Given the description of an element on the screen output the (x, y) to click on. 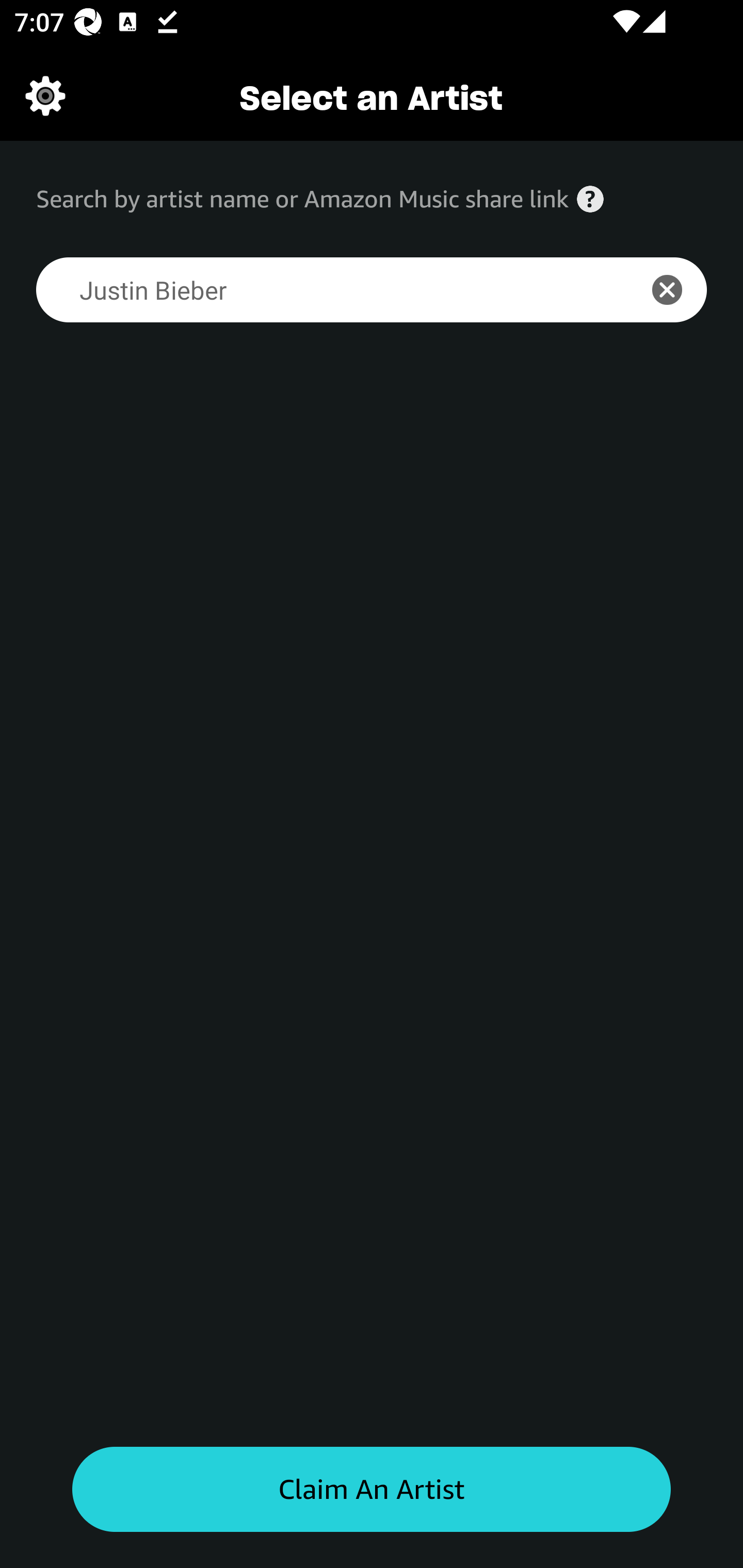
Help  icon (589, 199)
Justin Bieber Search for an artist search bar (324, 290)
 icon (677, 290)
Claim an artist button Claim An Artist (371, 1489)
